Given the description of an element on the screen output the (x, y) to click on. 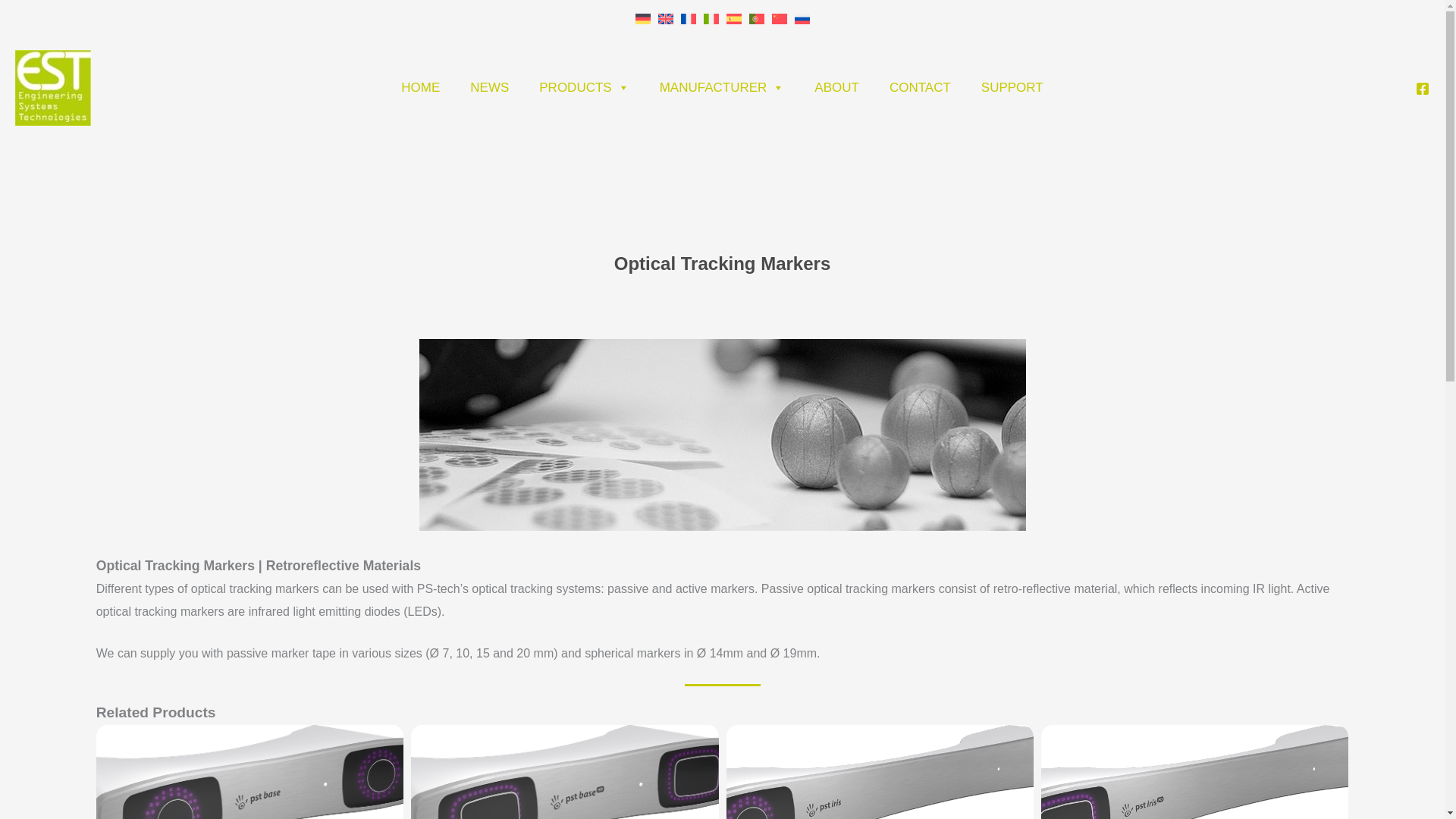
PRODUCTS (583, 87)
HOME (419, 87)
MANUFACTURER (722, 87)
NEWS (489, 87)
